Given the description of an element on the screen output the (x, y) to click on. 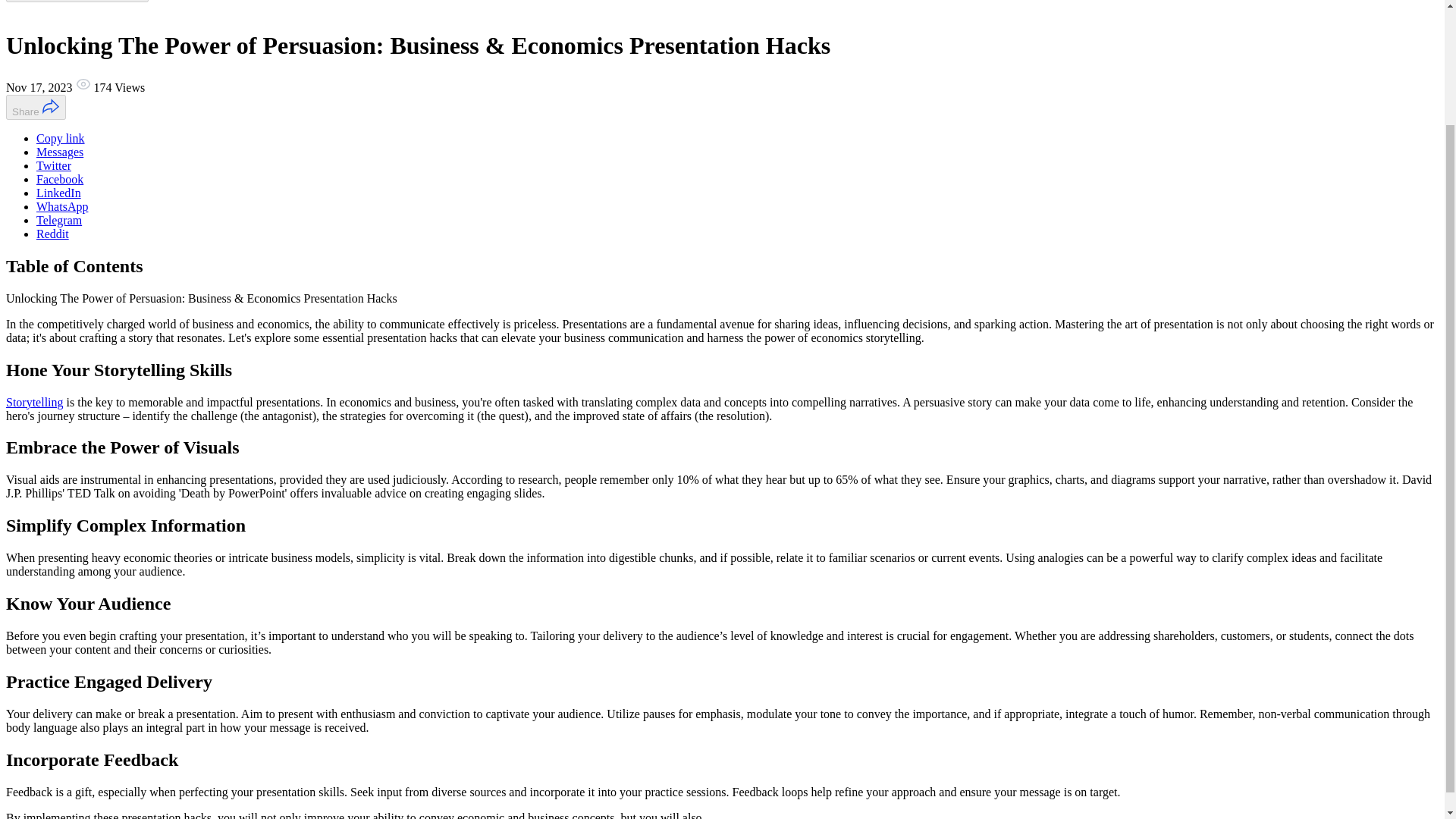
Facebook (59, 178)
LinkedIn (58, 192)
Back to all blogs (76, 1)
Copy link (60, 137)
Share (35, 107)
WhatsApp (61, 205)
Storytelling (34, 400)
Telegram (58, 219)
Messages (59, 151)
Twitter (53, 164)
Reddit (52, 233)
